Given the description of an element on the screen output the (x, y) to click on. 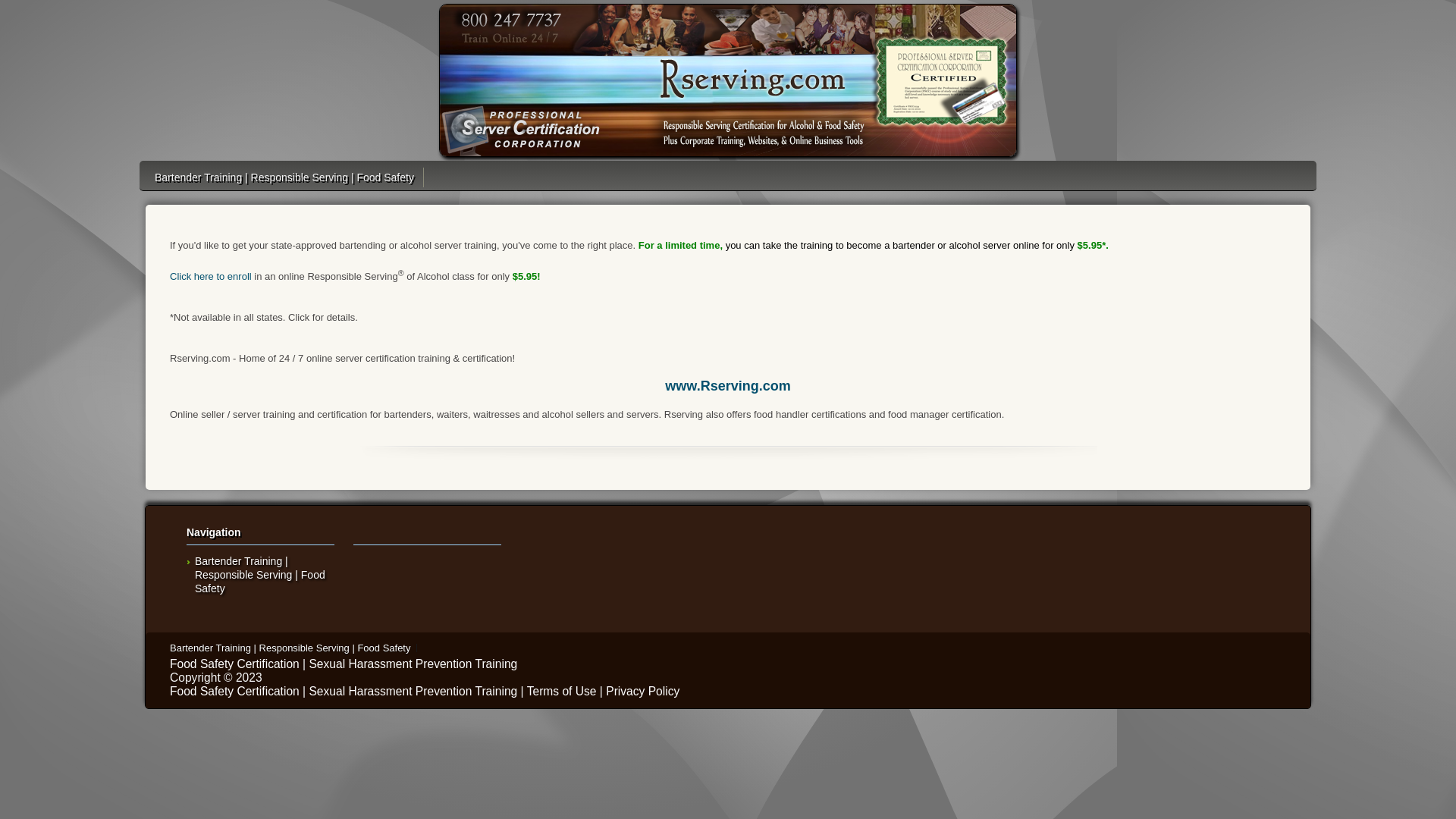
www.Rserving.com Element type: text (727, 385)
Terms of Use Element type: text (561, 690)
Sexual Harassment Prevention Training Element type: text (412, 690)
Bartender Training | Responsible Serving | Food Safety Element type: text (289, 647)
Sexual Harassment Prevention Training Element type: text (412, 663)
Bartender Training | Responsible Serving | Food Safety Element type: text (259, 574)
Food Safety Certification Element type: text (234, 690)
Bartender Training | Responsible Serving | Food Safety Element type: text (284, 177)
Privacy Policy Element type: text (642, 690)
Click here to enroll Element type: text (210, 276)
www.247serving.com Element type: hover (727, 79)
Food Safety Certification Element type: text (234, 663)
